Given the description of an element on the screen output the (x, y) to click on. 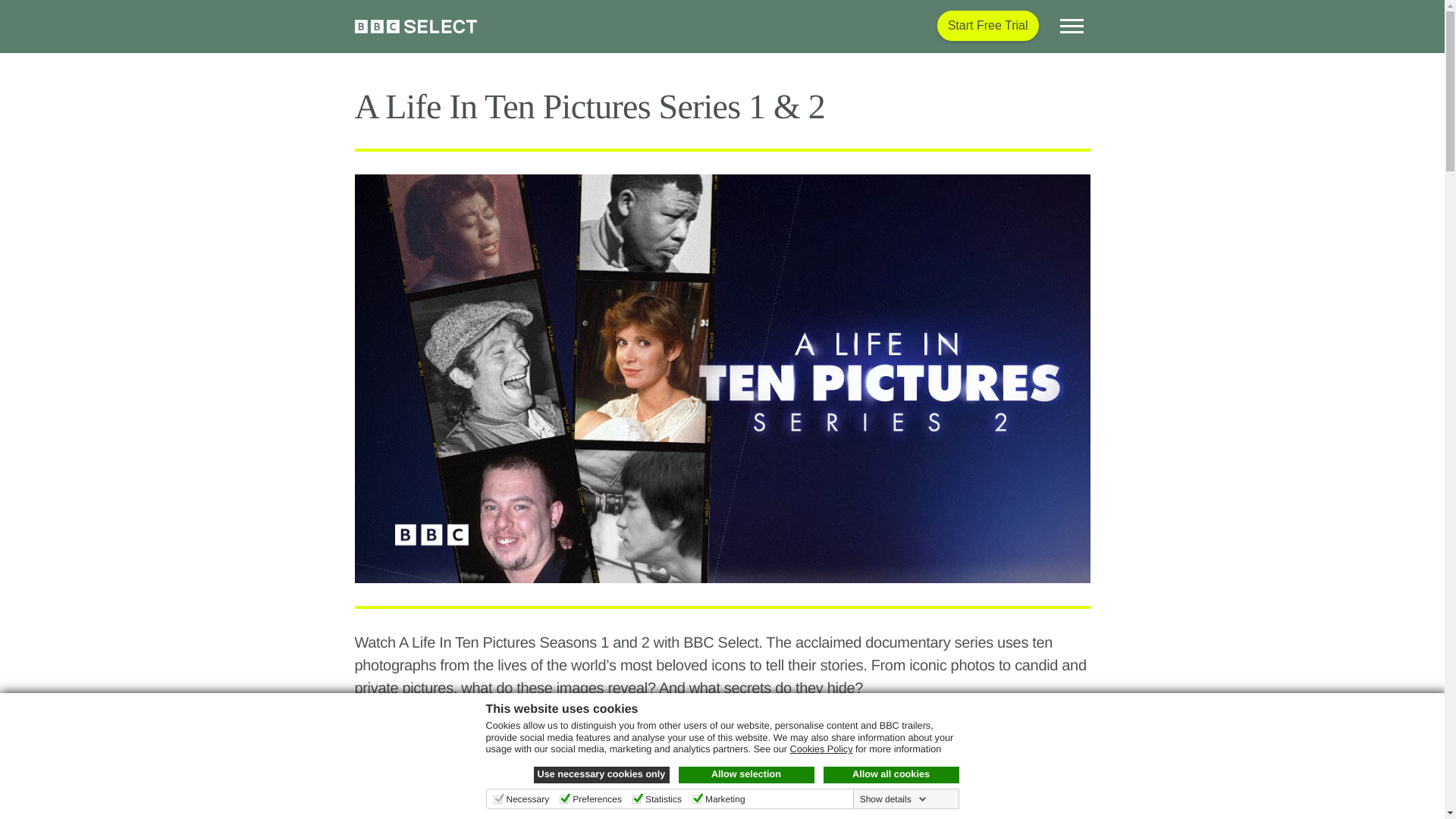
Allow selection (745, 774)
Show details (893, 799)
Use necessary cookies only (601, 774)
Cookies Policy (821, 748)
Allow all cookies (891, 774)
